Given the description of an element on the screen output the (x, y) to click on. 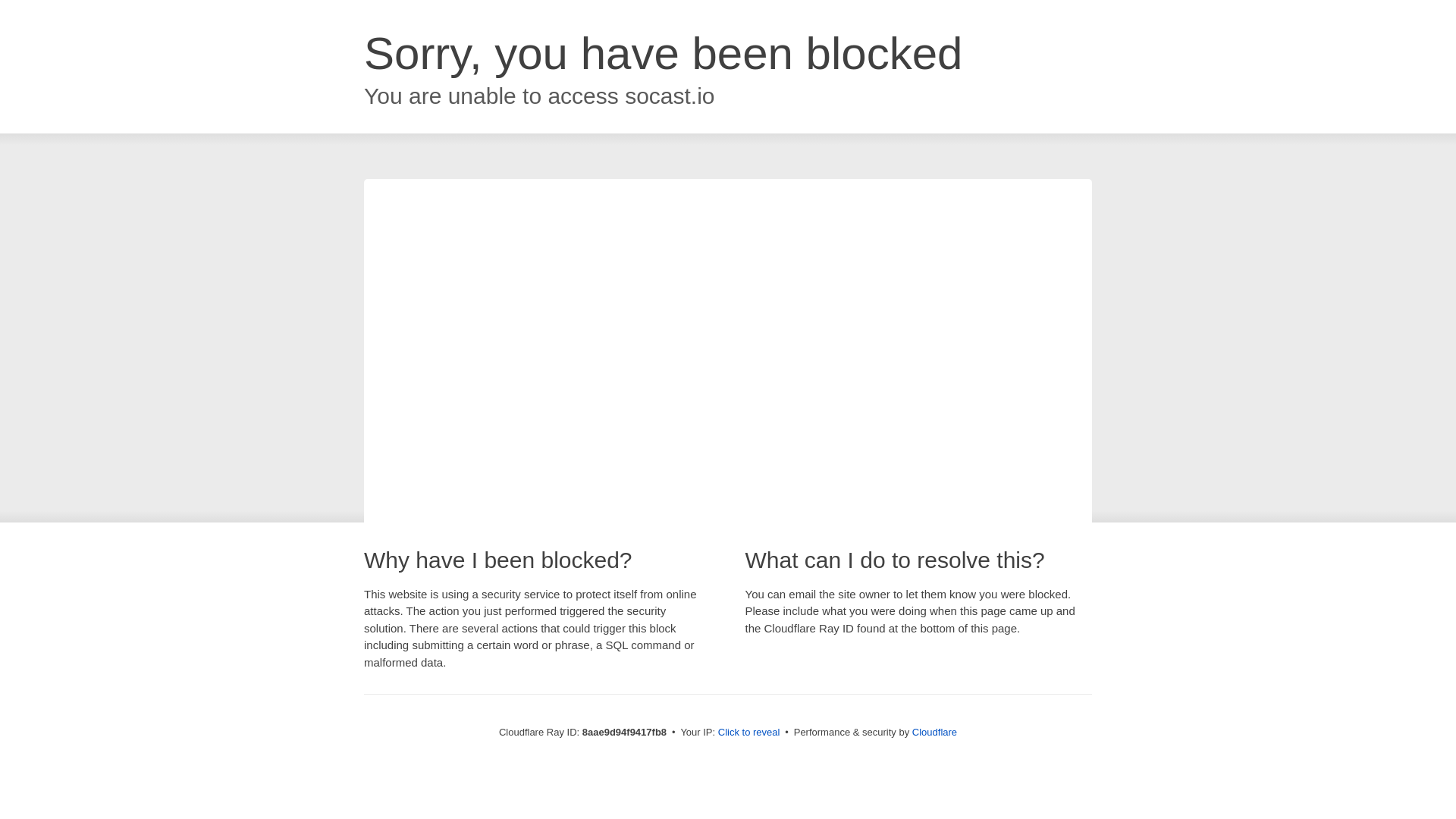
Cloudflare (934, 731)
Click to reveal (748, 732)
